Given the description of an element on the screen output the (x, y) to click on. 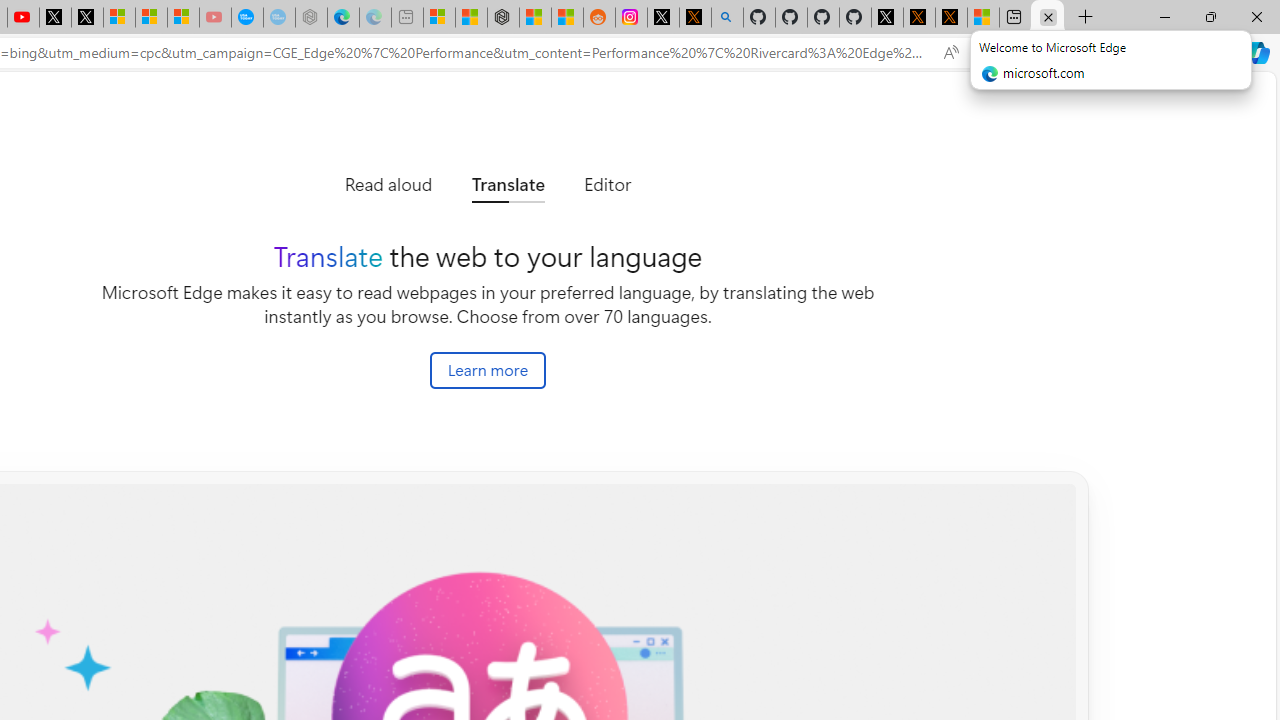
Gloom - YouTube - Sleeping (215, 17)
help.x.com | 524: A timeout occurred (694, 17)
Profile / X (886, 17)
The most popular Google 'how to' searches - Sleeping (279, 17)
github - Search (727, 17)
Nordace - Duffels (502, 17)
Shanghai, China Weather trends | Microsoft Weather (566, 17)
